Given the description of an element on the screen output the (x, y) to click on. 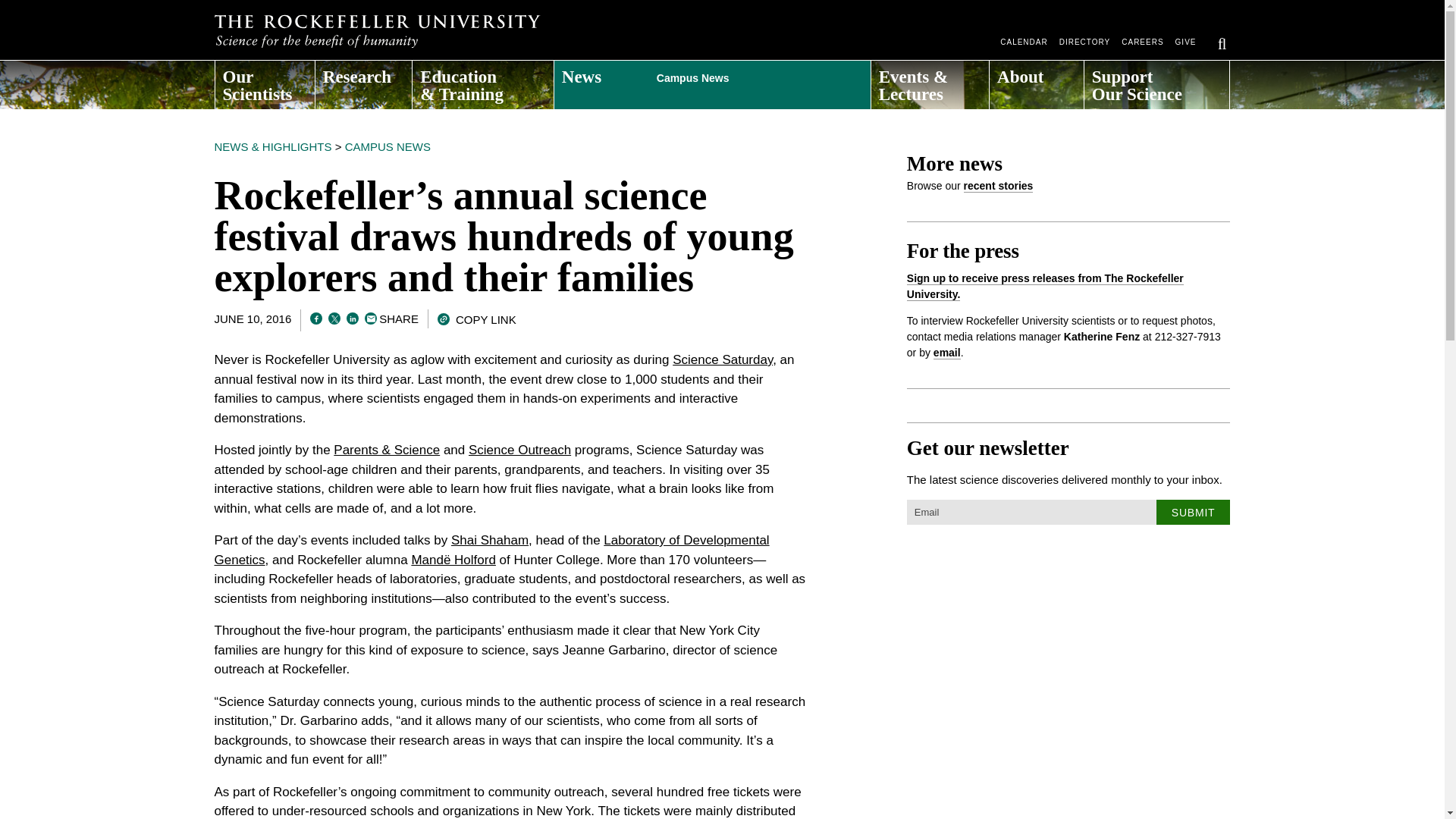
Campus News (740, 74)
Our Scientists (264, 80)
Submit (1193, 511)
Research (363, 80)
News (712, 80)
